Given the description of an element on the screen output the (x, y) to click on. 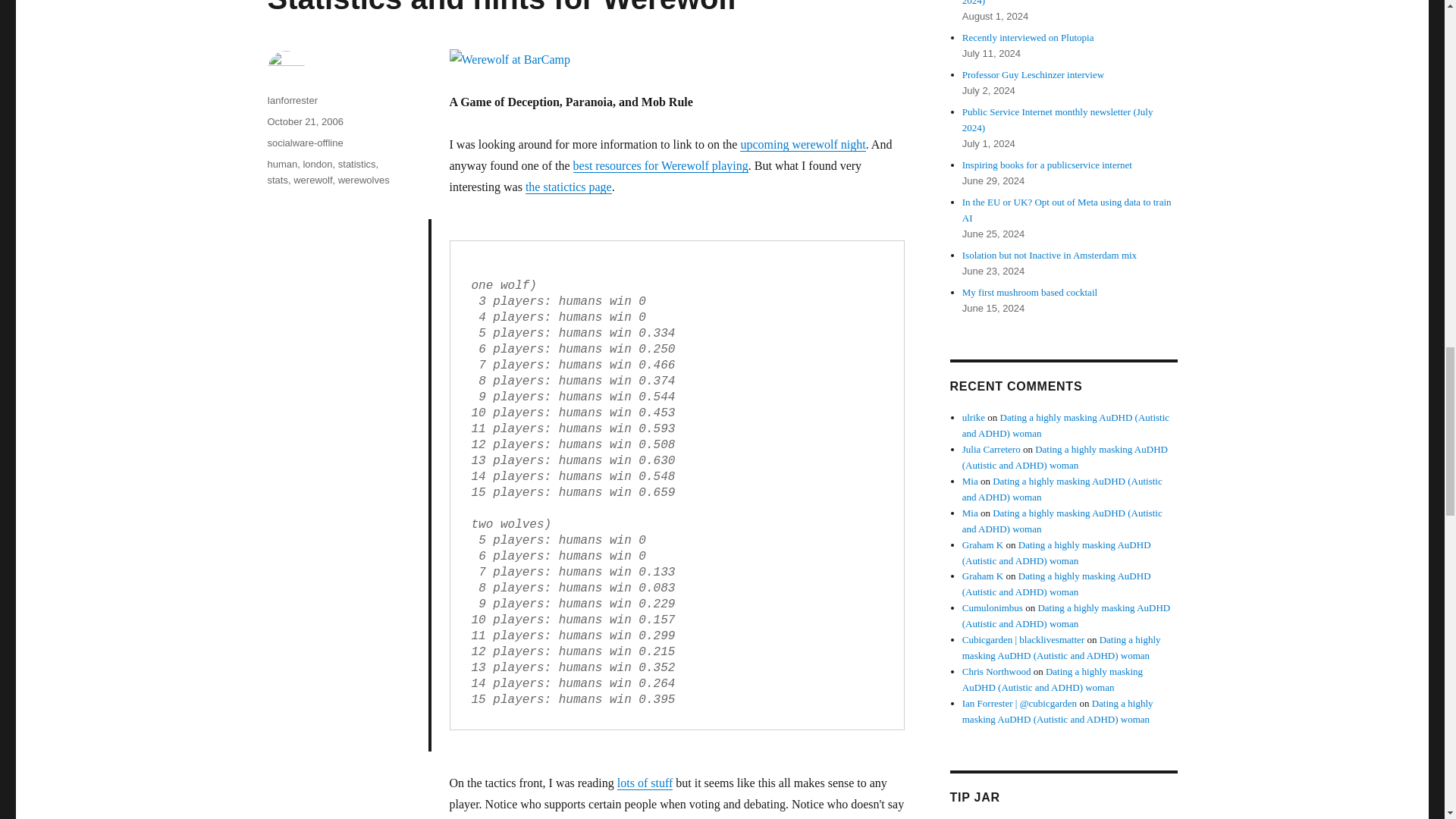
socialware-offline (304, 142)
best resources for Werewolf playing (660, 164)
human (281, 163)
October 21, 2006 (304, 121)
Statistics and hints for Werewolf (501, 7)
werewolves (363, 179)
werewolf (312, 179)
stats (276, 179)
lots of stuff (644, 782)
Werewolf at BarCamp (676, 59)
